Given the description of an element on the screen output the (x, y) to click on. 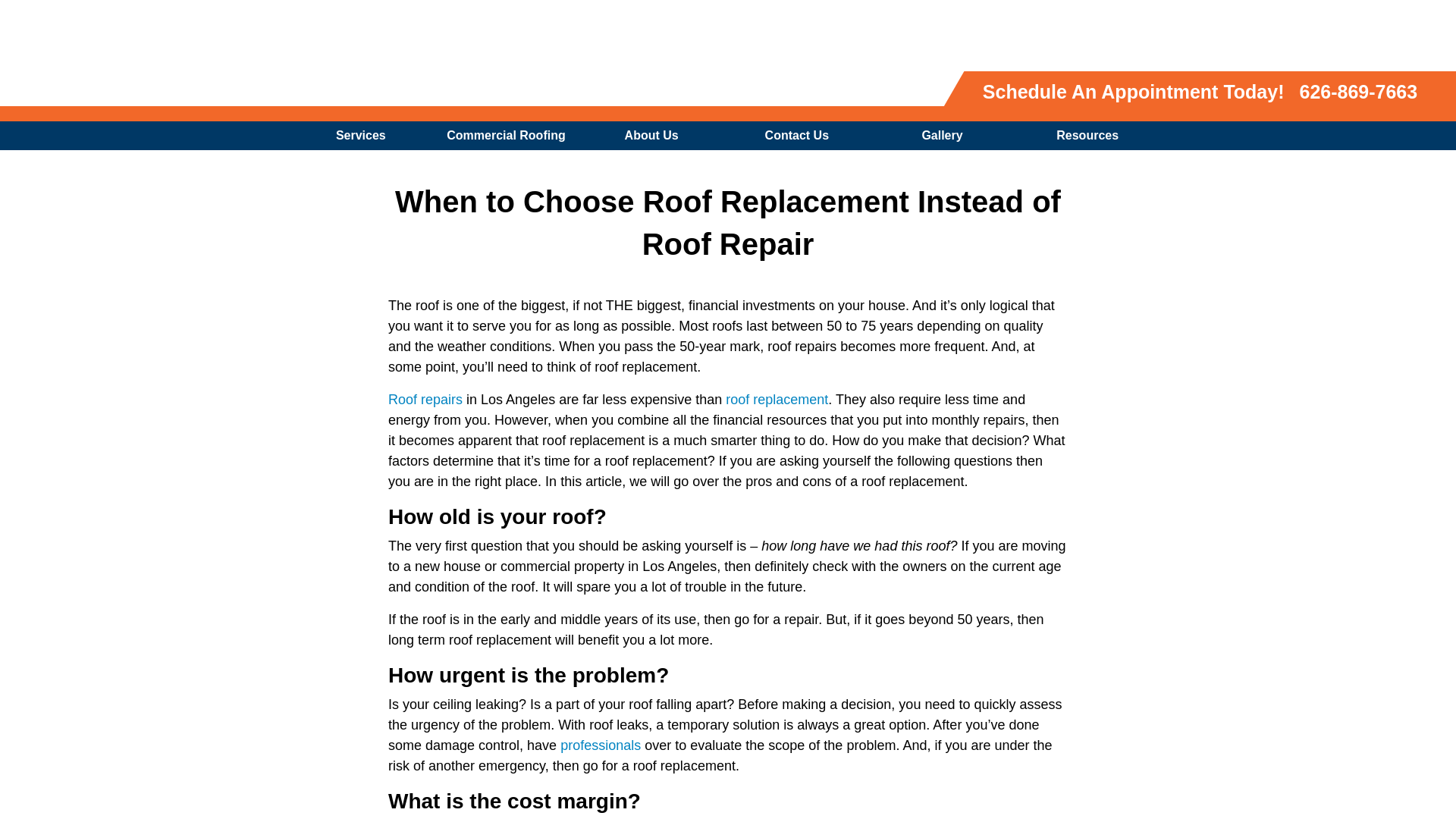
About Us (655, 135)
626-869-7663 (1358, 91)
Schedule An Appointment Today! (1133, 91)
Commercial Roofing (510, 135)
Services (365, 135)
